Given the description of an element on the screen output the (x, y) to click on. 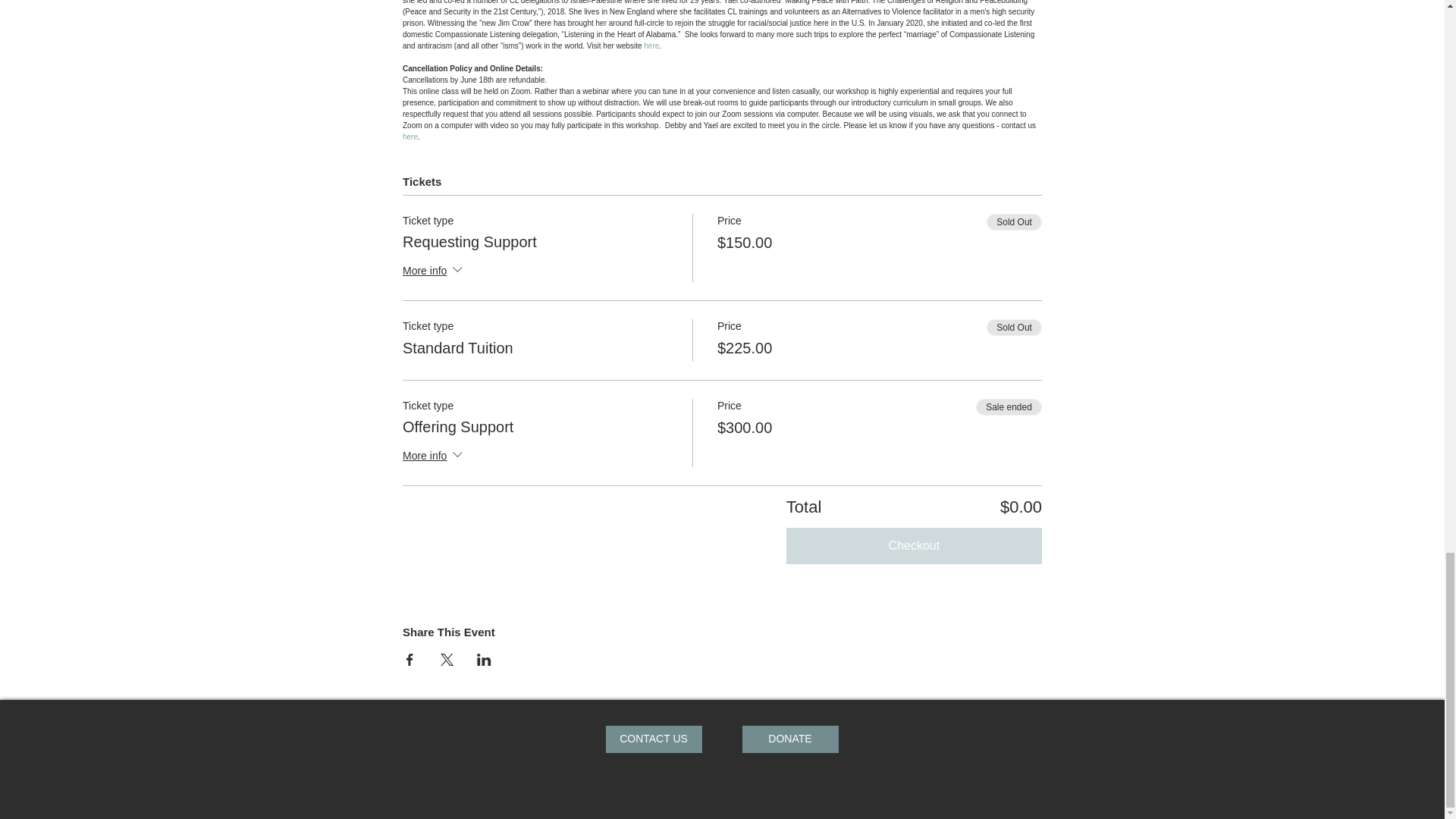
here (410, 136)
More info (434, 271)
Checkout (914, 545)
here (651, 45)
More info (434, 456)
CONTACT US (653, 738)
DONATE (789, 738)
